Given the description of an element on the screen output the (x, y) to click on. 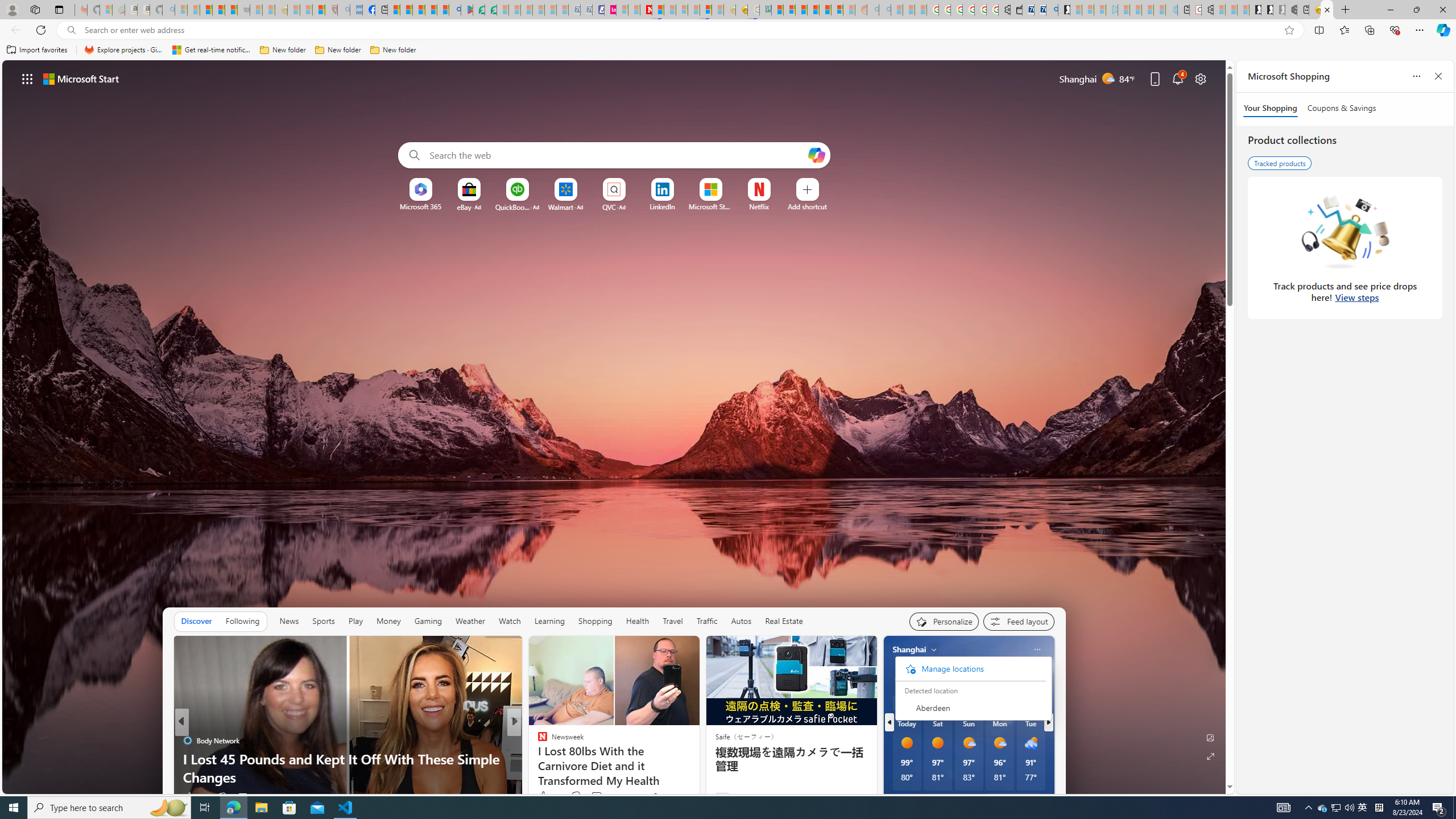
Play Free Online Games | Games from Microsoft Start (1255, 9)
Shopping (595, 621)
Autos (740, 621)
Traffic (706, 621)
Play (355, 621)
Ad Choice (863, 797)
previous (888, 722)
Traffic (706, 621)
Watch (509, 621)
